Given the description of an element on the screen output the (x, y) to click on. 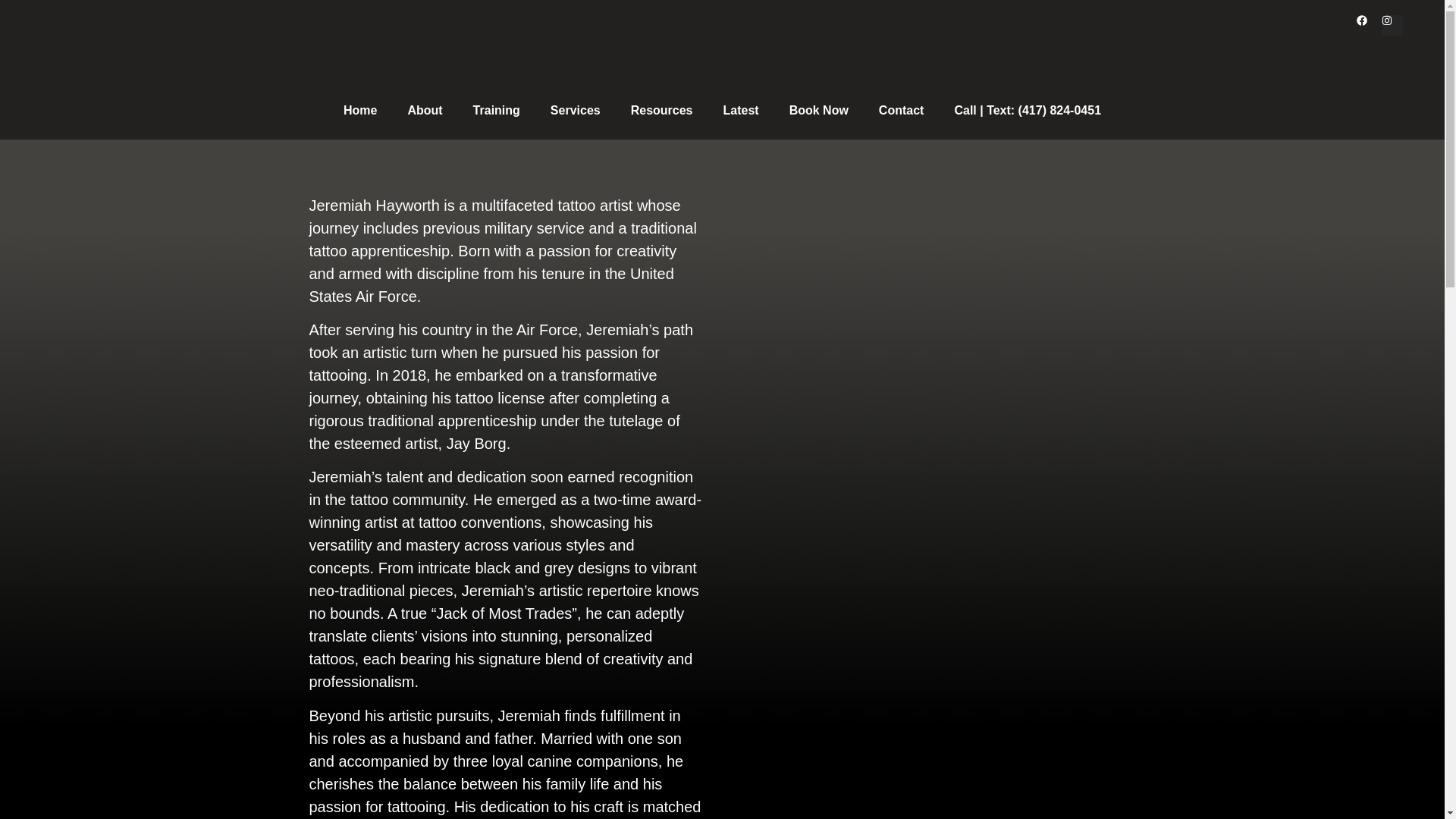
Resources (661, 110)
Latest (740, 110)
Book Now (818, 110)
Contact (901, 110)
About (424, 110)
Home (360, 110)
Services (575, 110)
Training (496, 110)
